Given the description of an element on the screen output the (x, y) to click on. 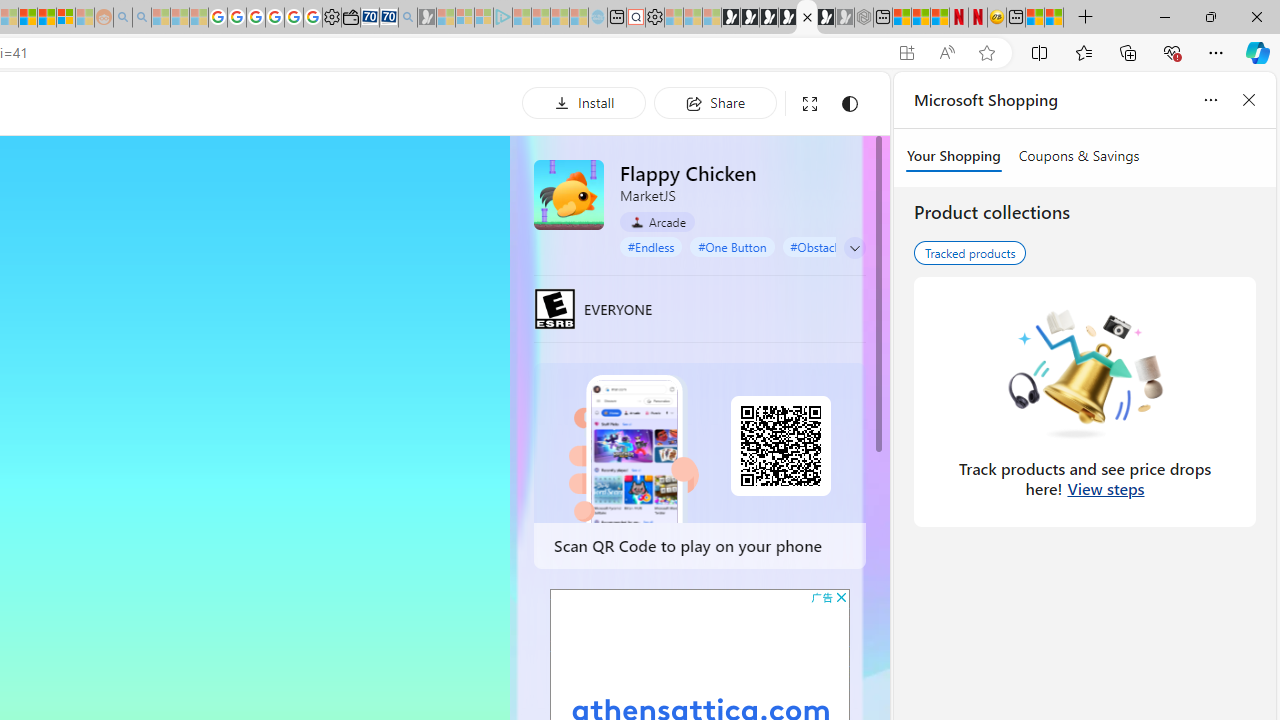
App available. Install Flappy Chicken (906, 53)
Flappy Chicken (568, 194)
Install (583, 102)
